Given the description of an element on the screen output the (x, y) to click on. 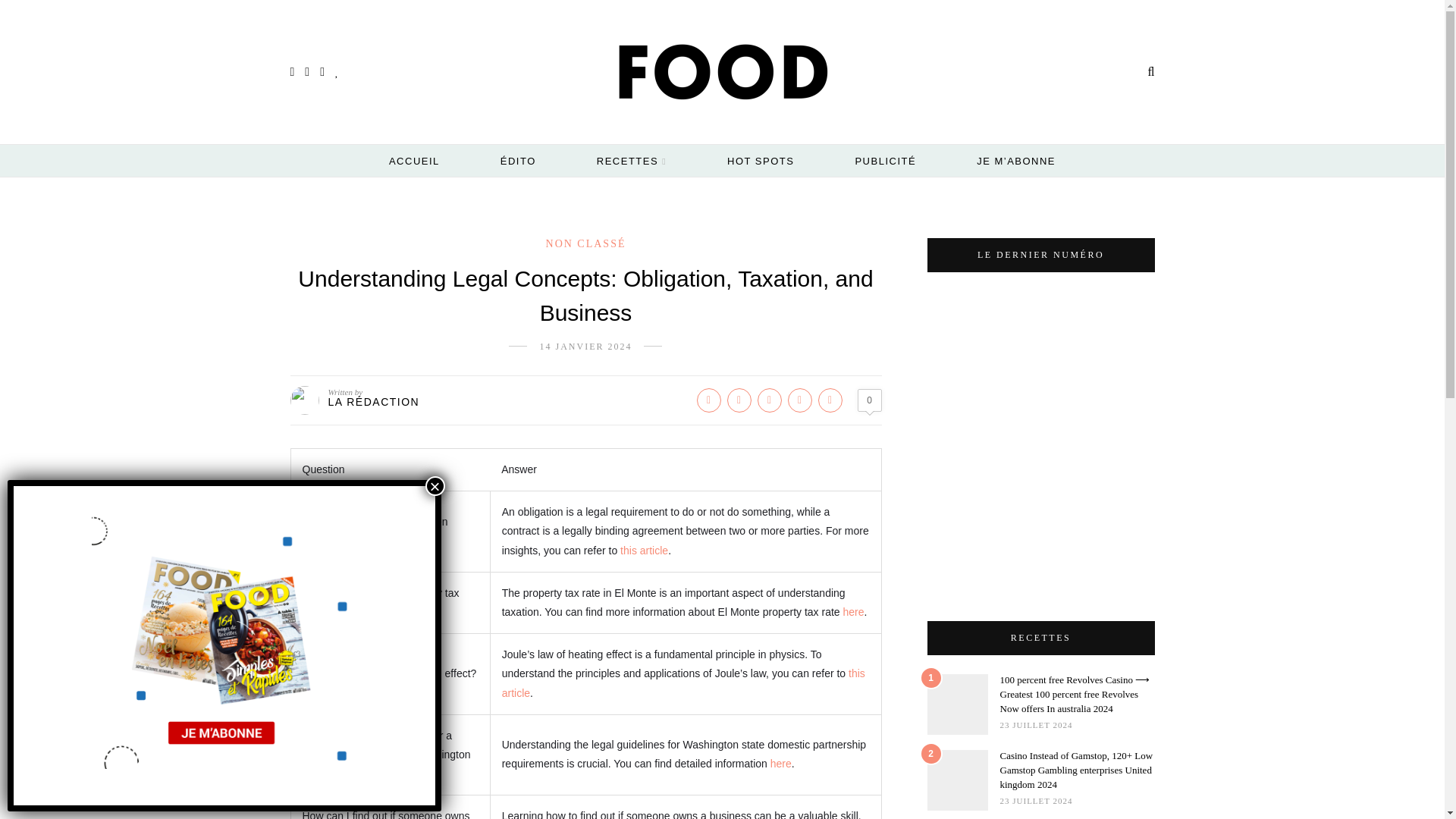
ACCUEIL (413, 160)
RECETTES (631, 161)
HOT SPOTS (759, 160)
14 JANVIER 2024 (585, 346)
